Given the description of an element on the screen output the (x, y) to click on. 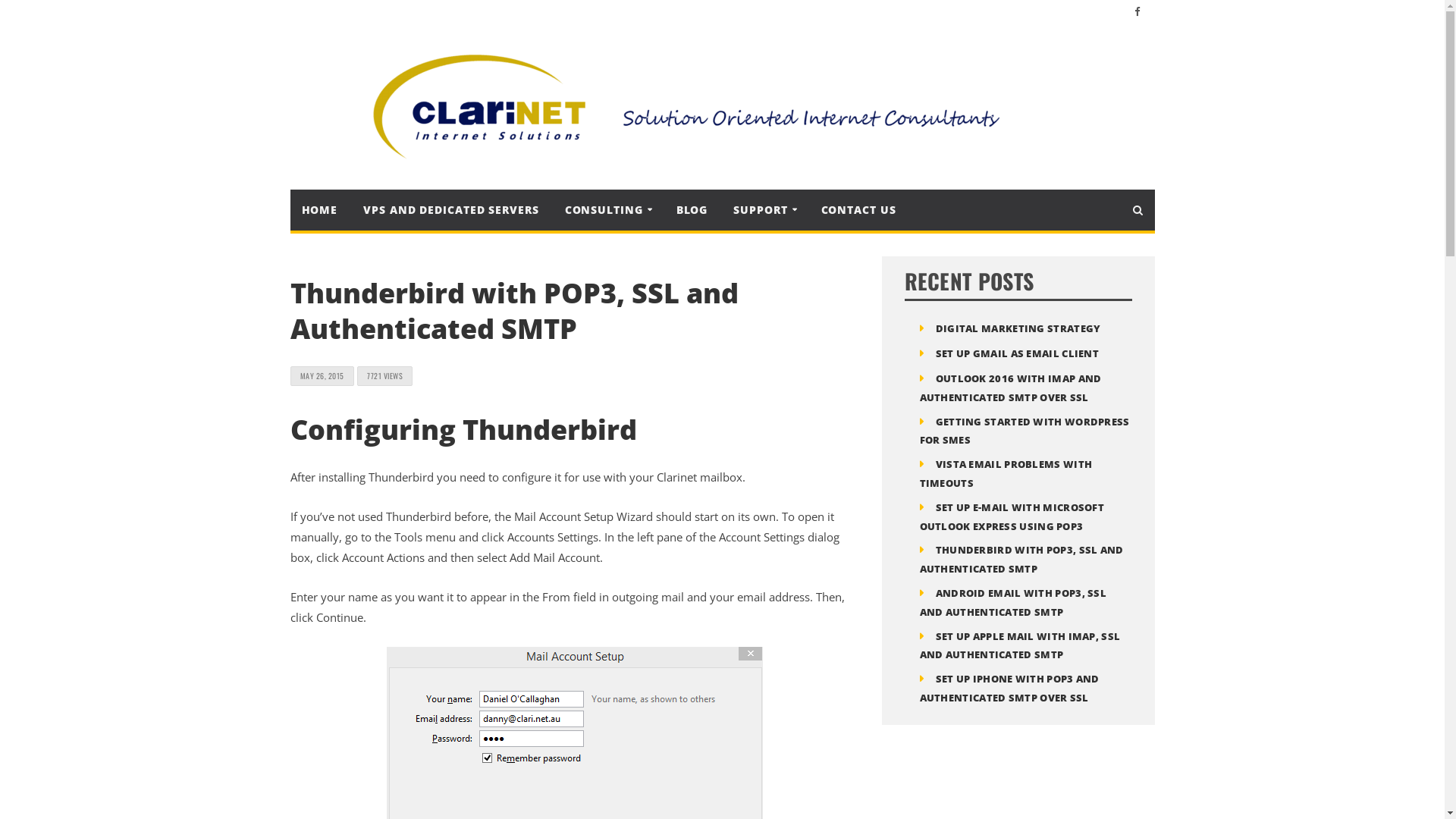
CONTACT US Element type: text (858, 209)
SET UP IPHONE WITH POP3 AND AUTHENTICATED SMTP OVER SSL Element type: text (1008, 687)
BLOG Element type: text (692, 209)
ANDROID EMAIL WITH POP3, SSL AND AUTHENTICATED SMTP Element type: text (1012, 602)
HOME Element type: text (318, 209)
SET UP E-MAIL WITH MICROSOFT OUTLOOK EXPRESS USING POP3 Element type: text (1011, 516)
THUNDERBIRD WITH POP3, SSL AND AUTHENTICATED SMTP Element type: text (1021, 558)
GETTING STARTED WITH WORDPRESS FOR SMES Element type: text (1024, 430)
SET UP APPLE MAIL WITH IMAP, SSL AND AUTHENTICATED SMTP Element type: text (1019, 645)
VISTA EMAIL PROBLEMS WITH TIMEOUTS Element type: text (1005, 473)
DIGITAL MARKETING STRATEGY Element type: text (1018, 328)
SUPPORT Element type: text (763, 209)
VPS AND DEDICATED SERVERS Element type: text (450, 209)
SET UP GMAIL AS EMAIL CLIENT Element type: text (1016, 353)
OUTLOOK 2016 WITH IMAP AND AUTHENTICATED SMTP OVER SSL Element type: text (1010, 387)
CONSULTING Element type: text (607, 209)
